Given the description of an element on the screen output the (x, y) to click on. 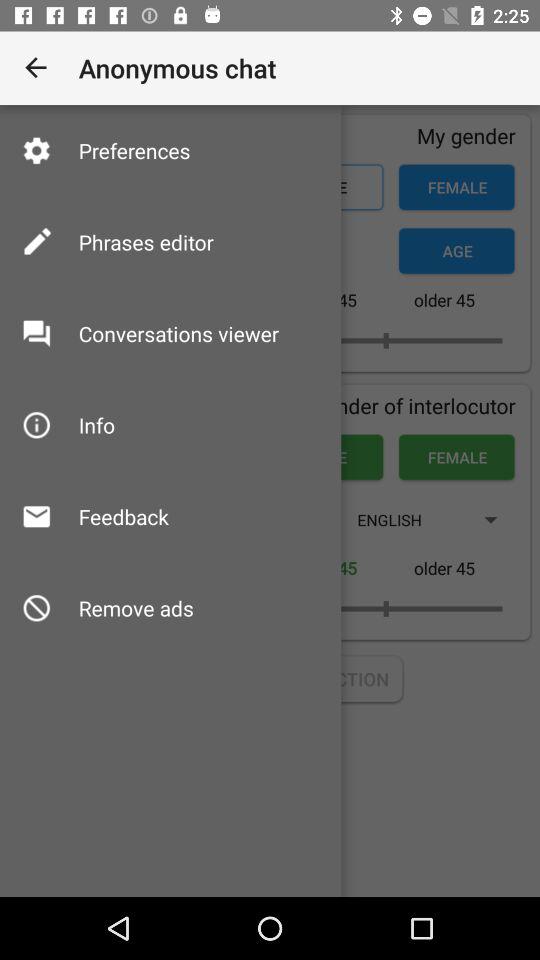
tap the icon to the left of the english icon (123, 516)
